Given the description of an element on the screen output the (x, y) to click on. 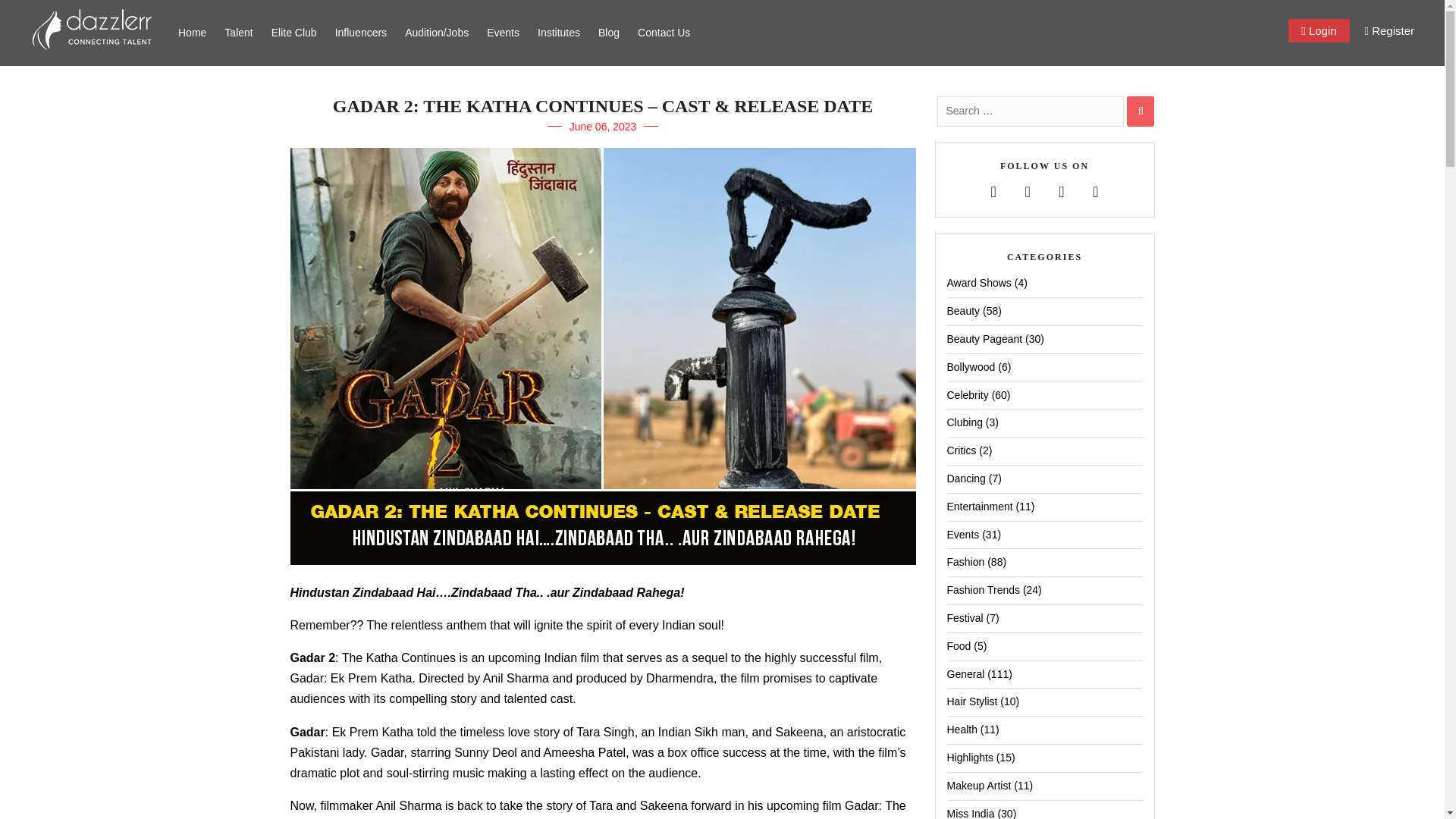
Facebook (993, 192)
Pinterest (1061, 192)
Register (1388, 30)
Events (502, 32)
Instagram (1094, 192)
Talent (238, 32)
Institutes (558, 32)
Twitter (1027, 192)
Elite Club (294, 32)
Blog (608, 32)
Contact Us (663, 32)
Influencers (361, 32)
Login (1318, 30)
Home (191, 32)
